Given the description of an element on the screen output the (x, y) to click on. 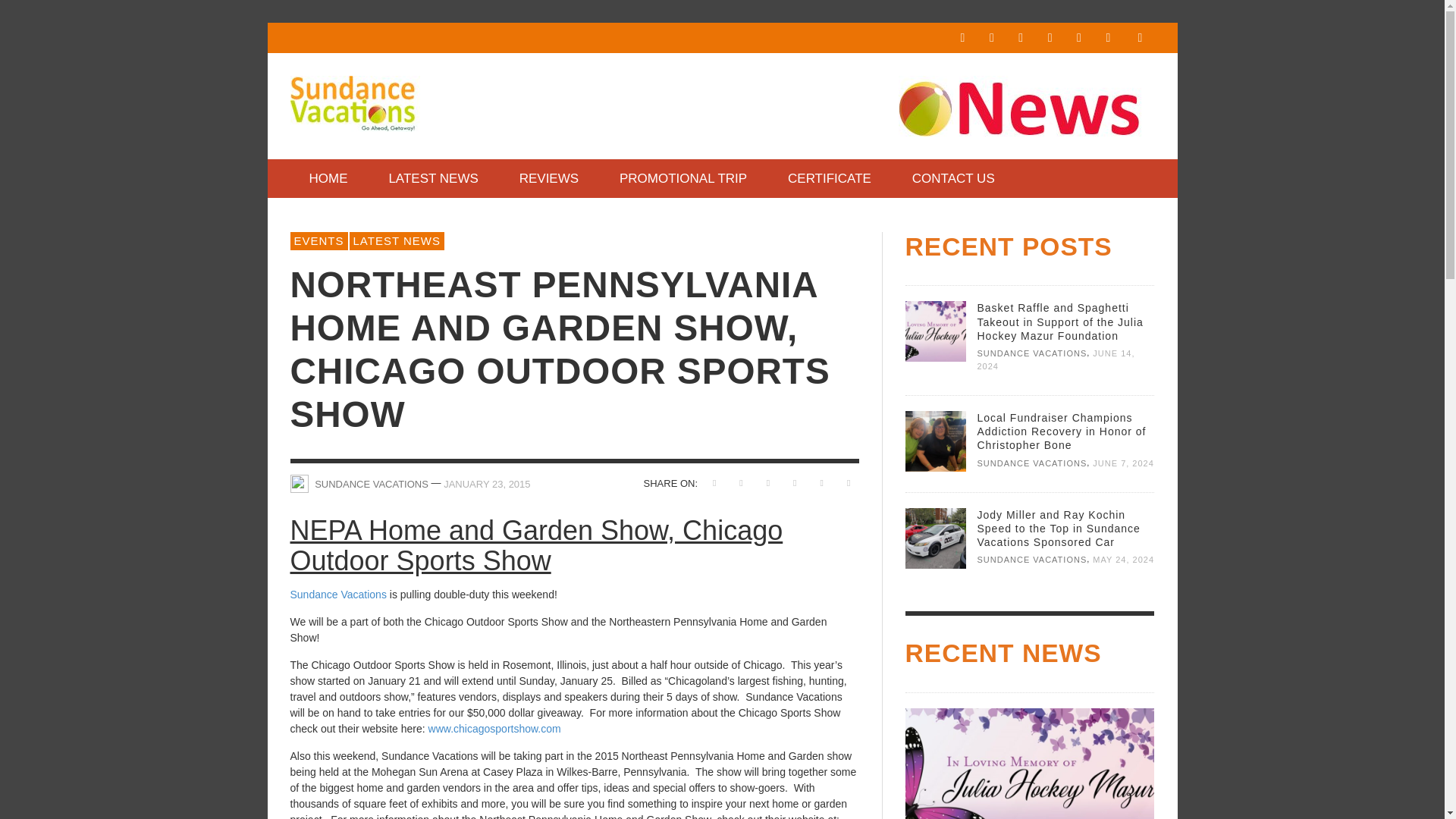
Instagram (991, 37)
Twitter (1078, 37)
LinkedIn (1020, 37)
Facebook (961, 37)
EVENTS (318, 240)
CONTACT US (953, 178)
Youtube (1107, 37)
Pinterest (1049, 37)
LATEST NEWS (432, 178)
REVIEWS (548, 178)
PROMOTIONAL TRIP (682, 178)
CERTIFICATE (828, 178)
HOME (327, 178)
